Given the description of an element on the screen output the (x, y) to click on. 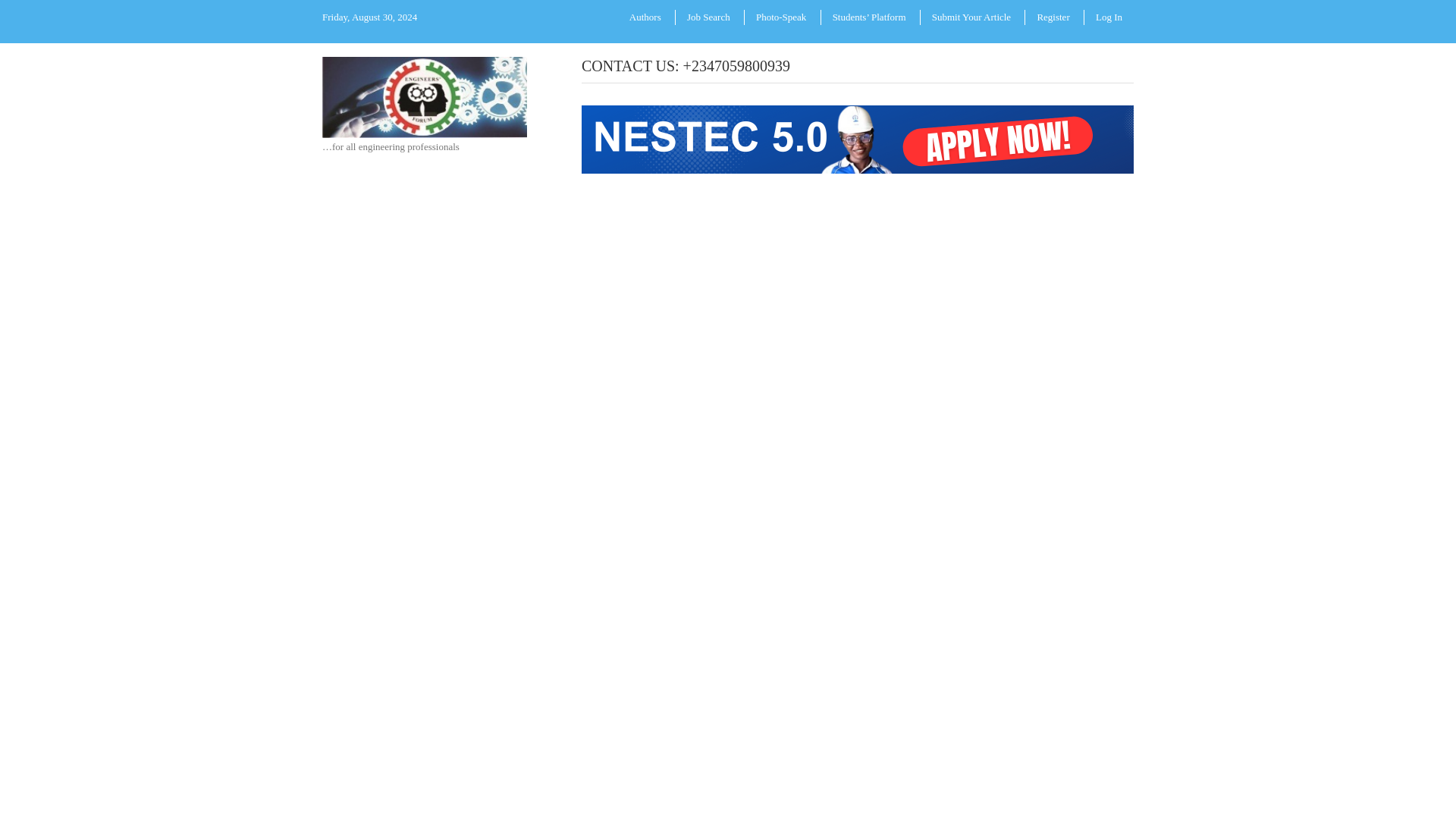
Authors (644, 16)
Photo-Speak (780, 16)
Submit Your Article (971, 16)
Log In (1109, 16)
Register (1052, 16)
Job Search (708, 16)
